Given the description of an element on the screen output the (x, y) to click on. 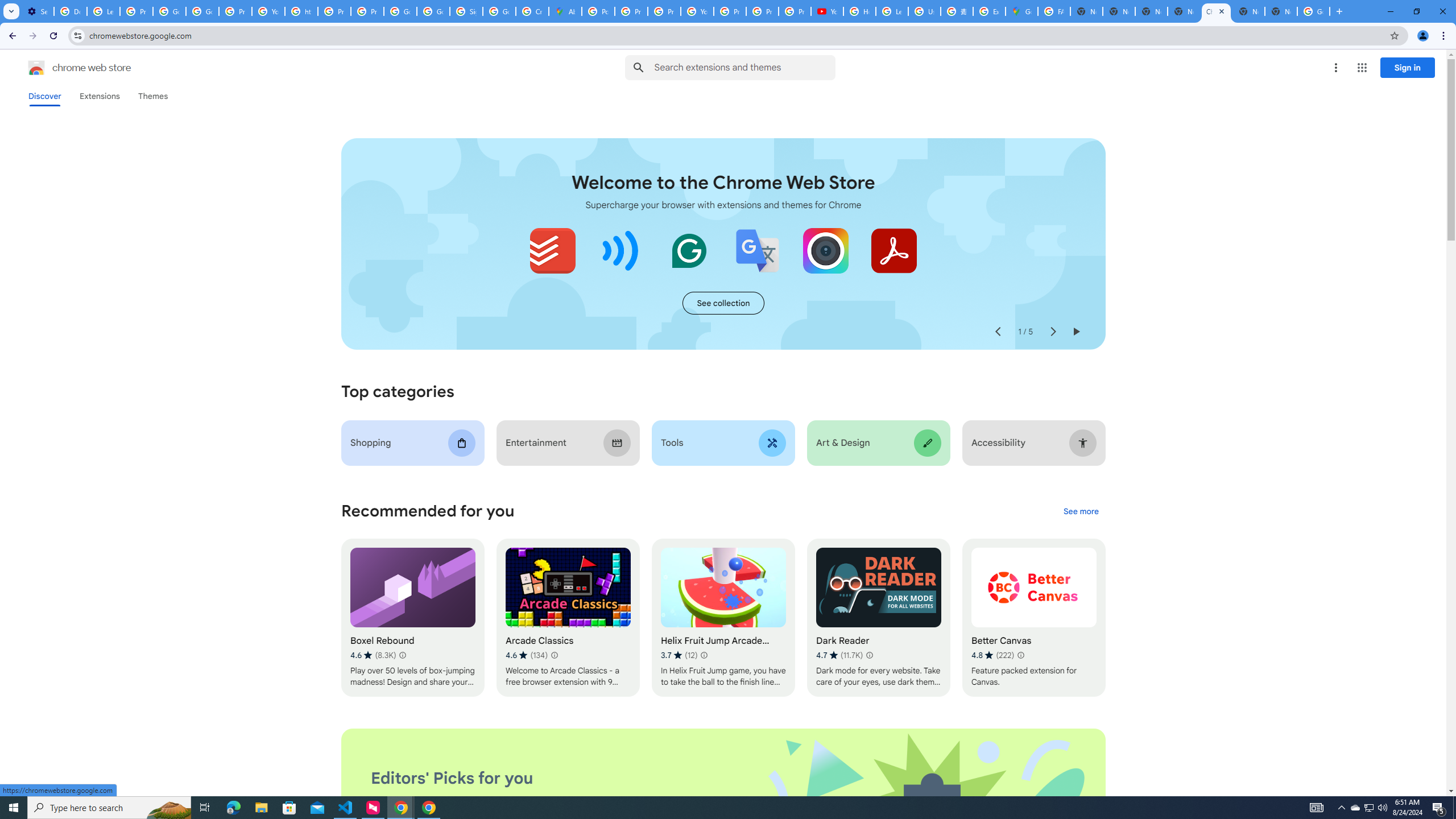
Resume auto-play (1075, 331)
Volume Master (620, 250)
Adobe Acrobat: PDF edit, convert, sign tools (893, 250)
Accessibility (1033, 443)
Google Translate (757, 250)
Privacy Checkup (794, 11)
Privacy Checkup (762, 11)
